Given the description of an element on the screen output the (x, y) to click on. 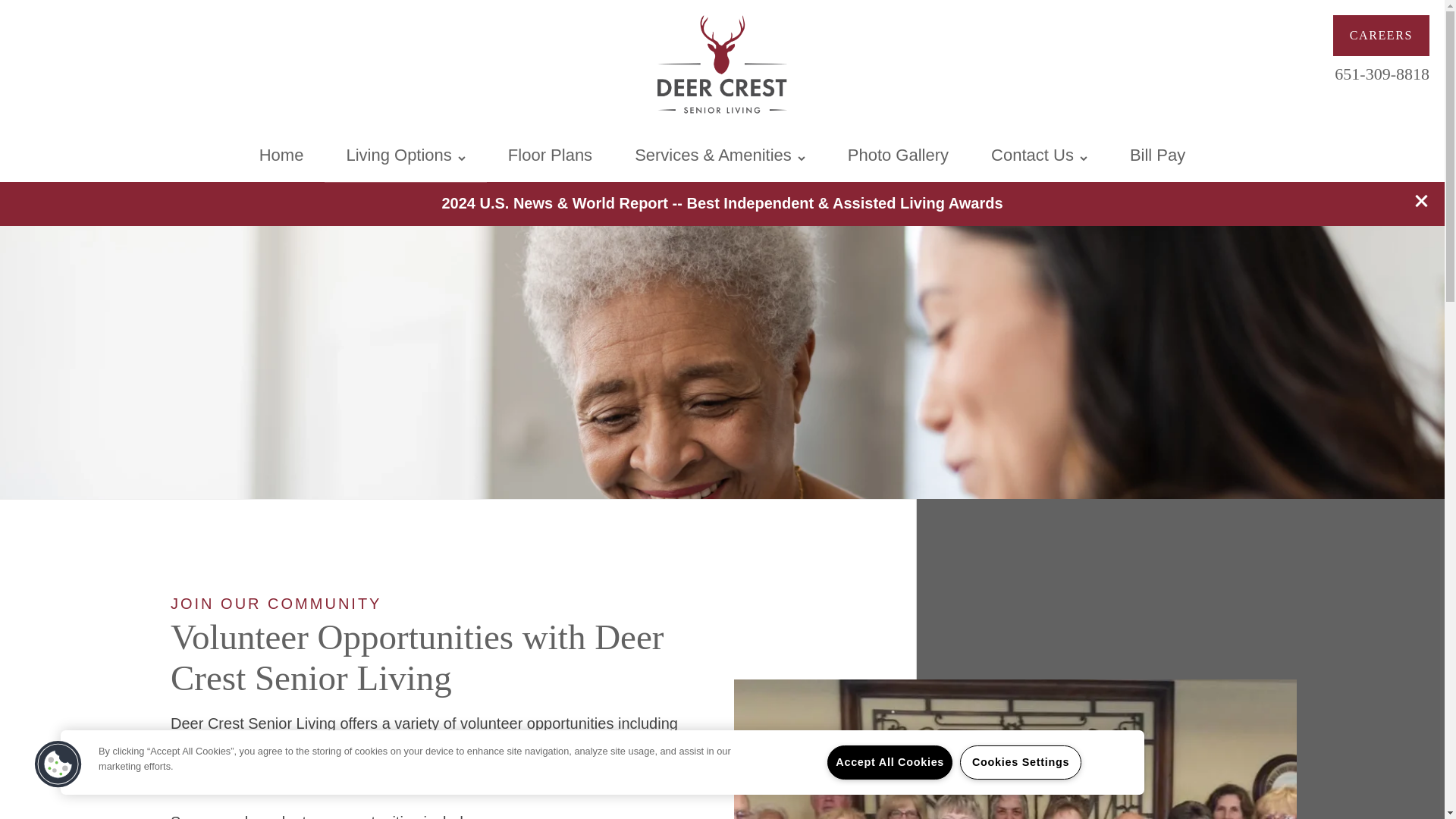
Bill Pay (1157, 154)
events (332, 743)
Living Options (405, 154)
Cookies Button (57, 764)
Photo Gallery (898, 154)
Contact Us (1038, 154)
651-309-8818 (1382, 71)
Floor Plans (549, 154)
CAREERS (1381, 35)
Emergency Response (1045, 144)
Property Phone Number (1382, 71)
Home (281, 154)
